Given the description of an element on the screen output the (x, y) to click on. 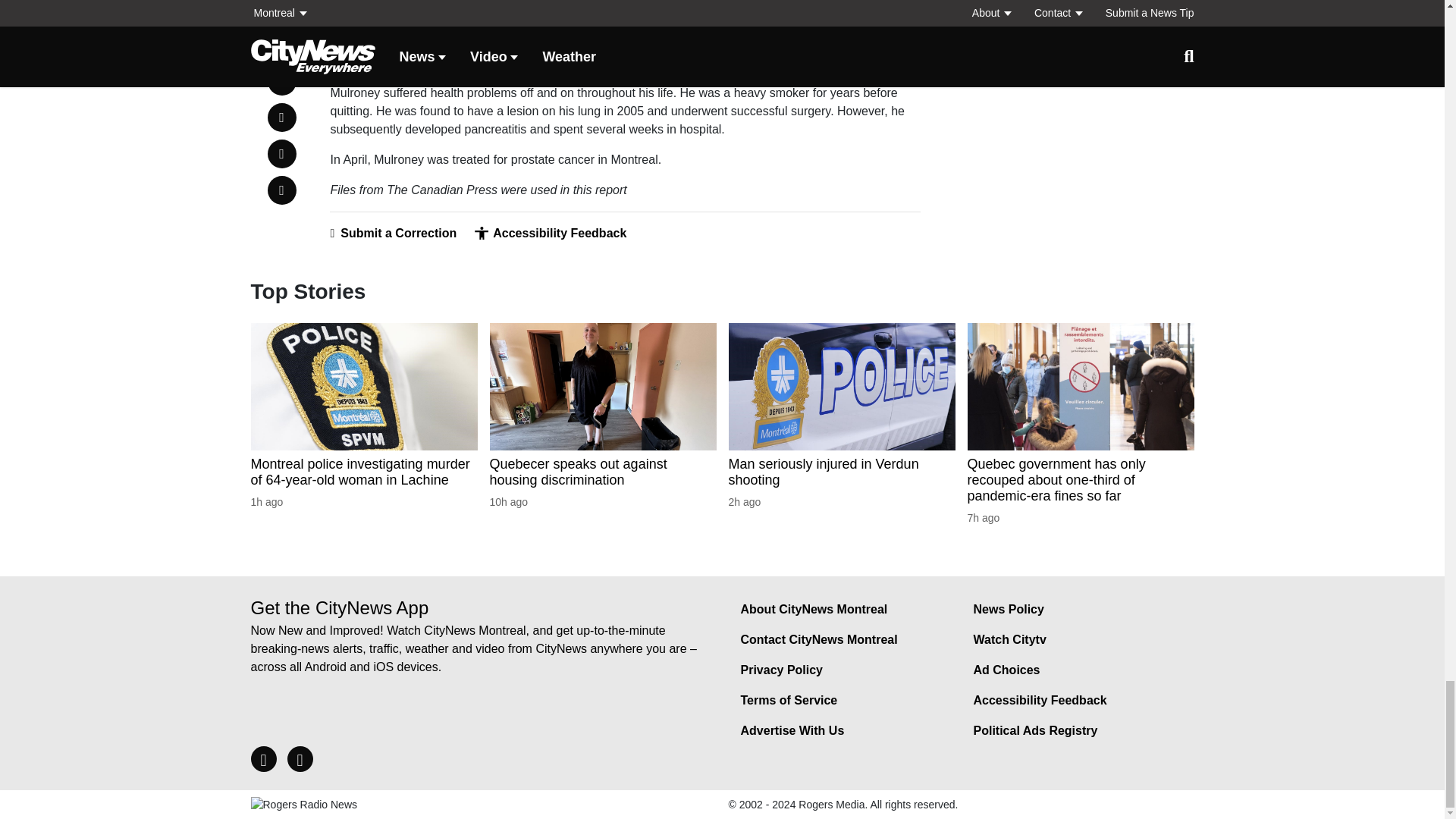
Accessibility Feedback (550, 232)
Submit a Correction (393, 232)
